Given the description of an element on the screen output the (x, y) to click on. 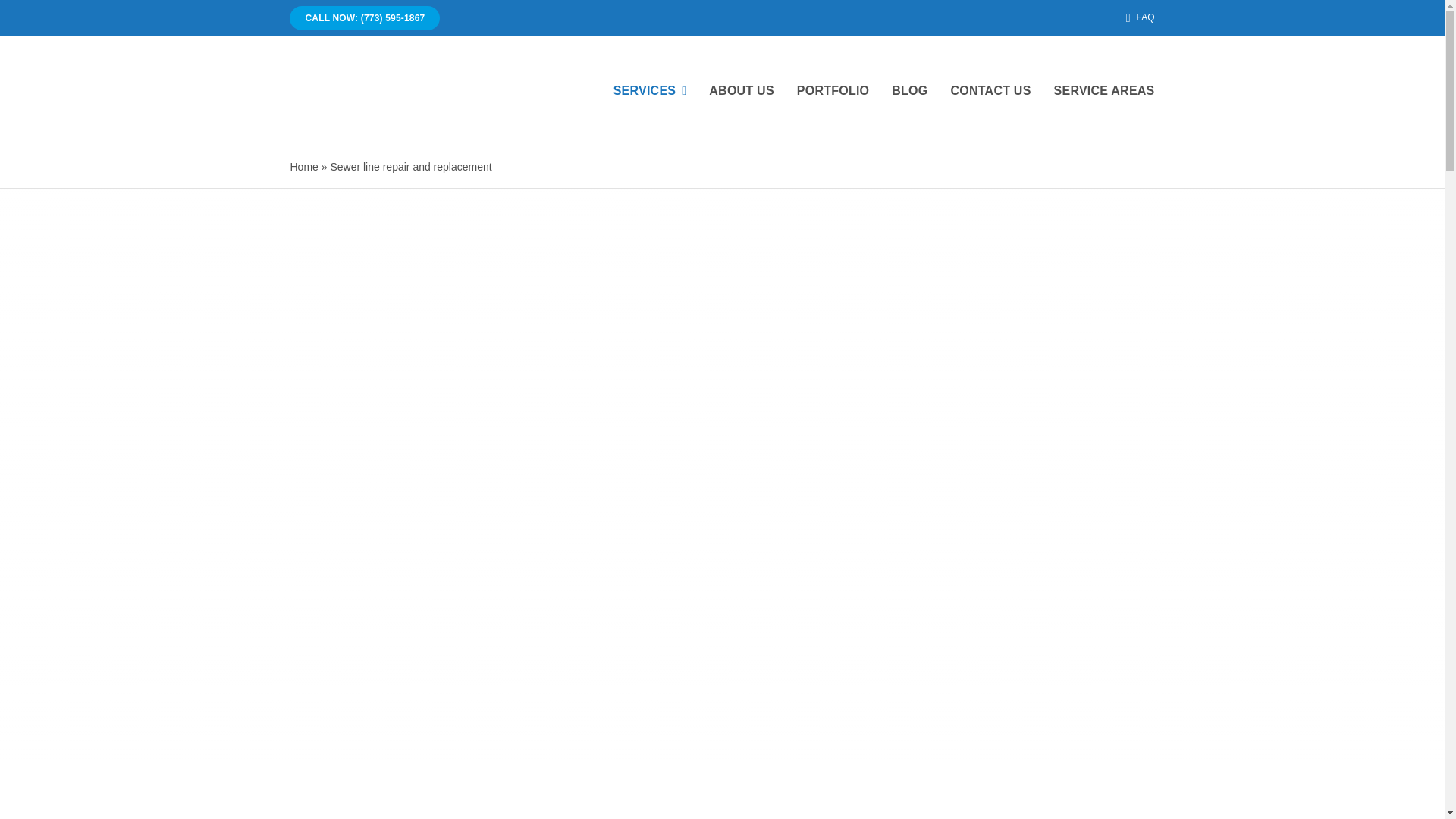
SERVICES (649, 90)
SERVICE AREAS (1104, 90)
BLOG (909, 90)
ABOUT US (741, 90)
CONTACT US (990, 90)
Home (303, 166)
FAQ (1136, 18)
PORTFOLIO (832, 90)
